Given the description of an element on the screen output the (x, y) to click on. 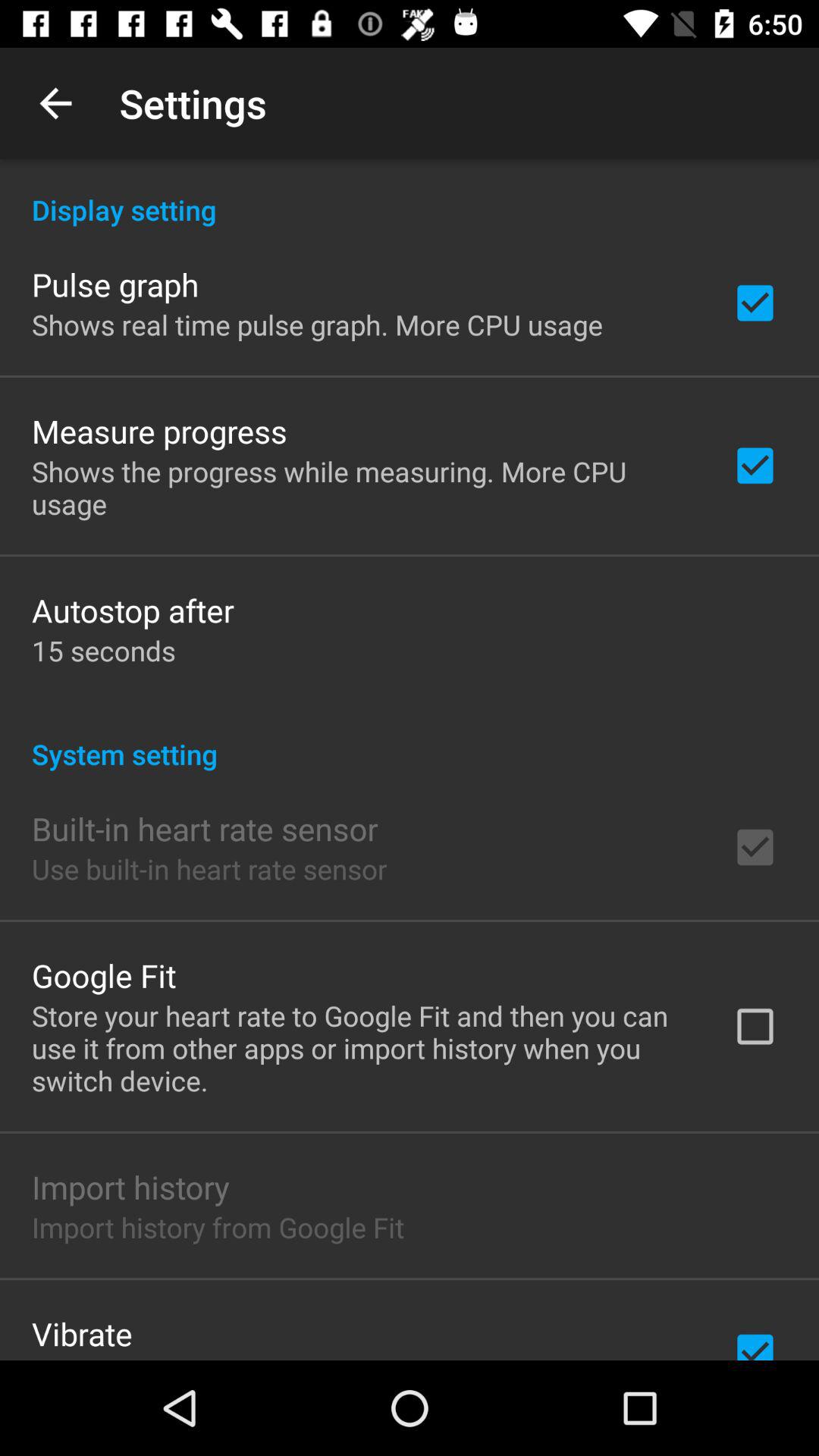
select the item below shows real time icon (159, 430)
